Given the description of an element on the screen output the (x, y) to click on. 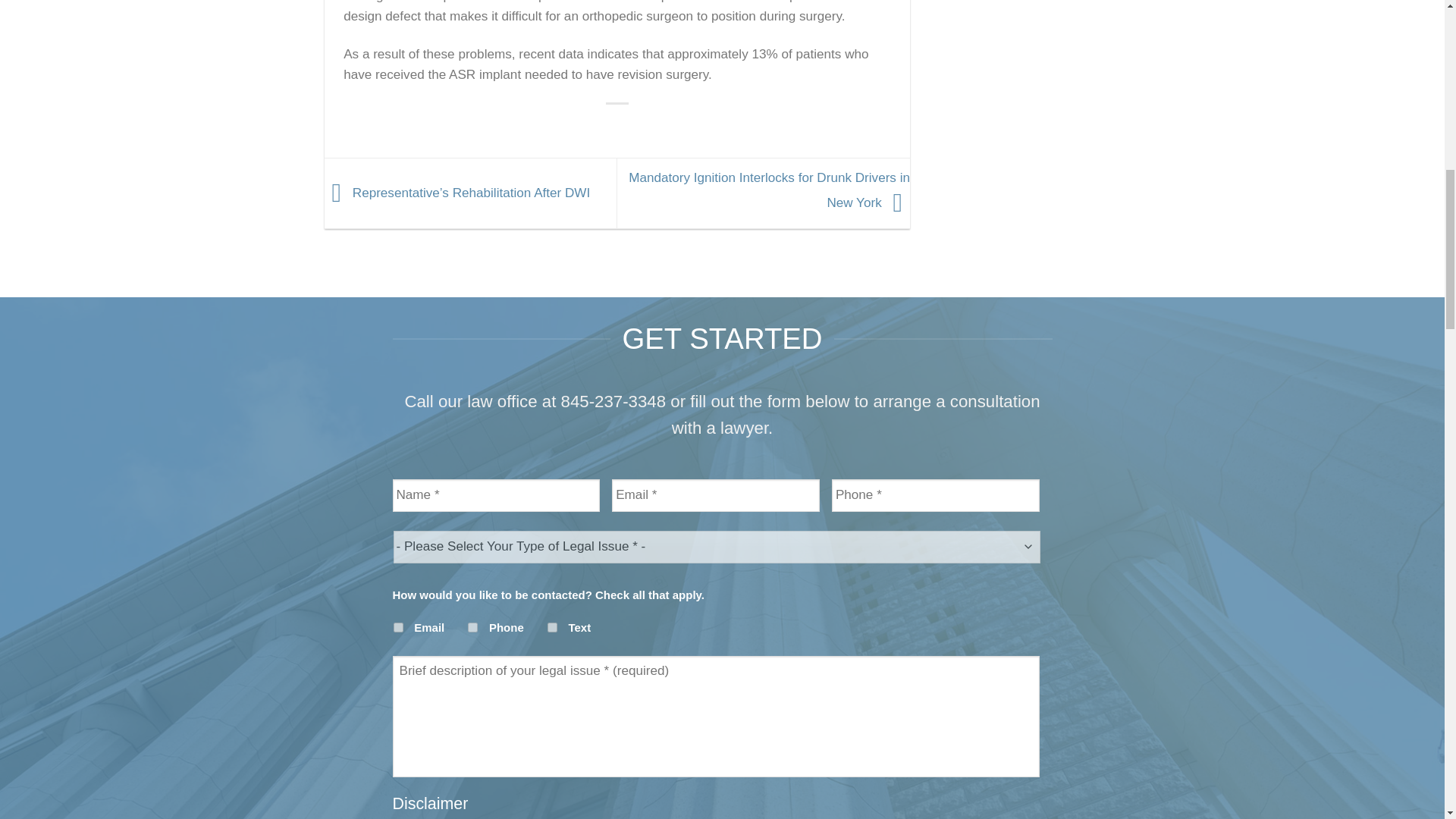
Mandatory Ignition Interlocks for Drunk Drivers in New York (769, 189)
845-237-3348 (613, 401)
Text (552, 627)
Email (398, 627)
Phone (472, 627)
